Given the description of an element on the screen output the (x, y) to click on. 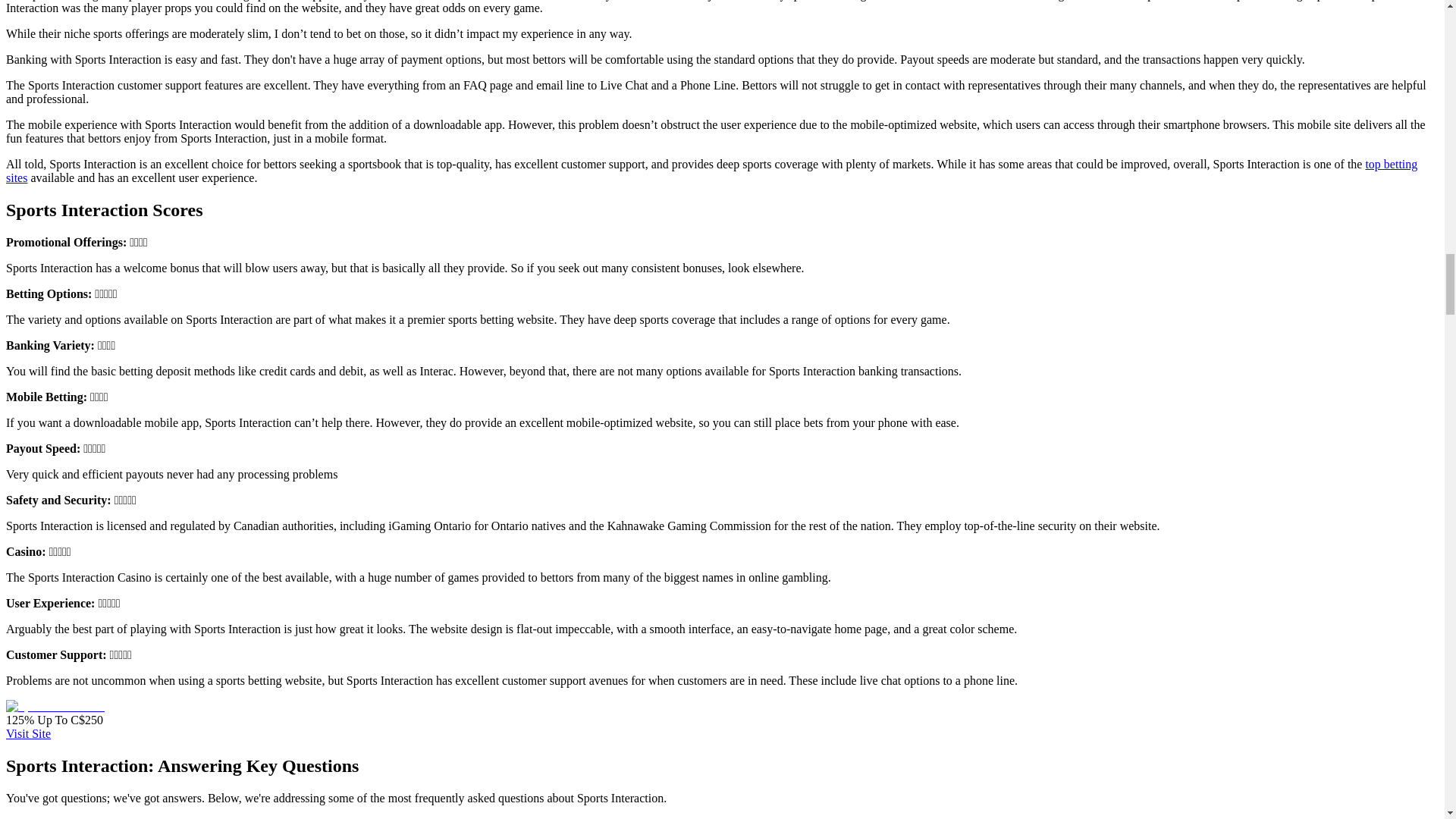
Sports Intercation (54, 706)
